Given the description of an element on the screen output the (x, y) to click on. 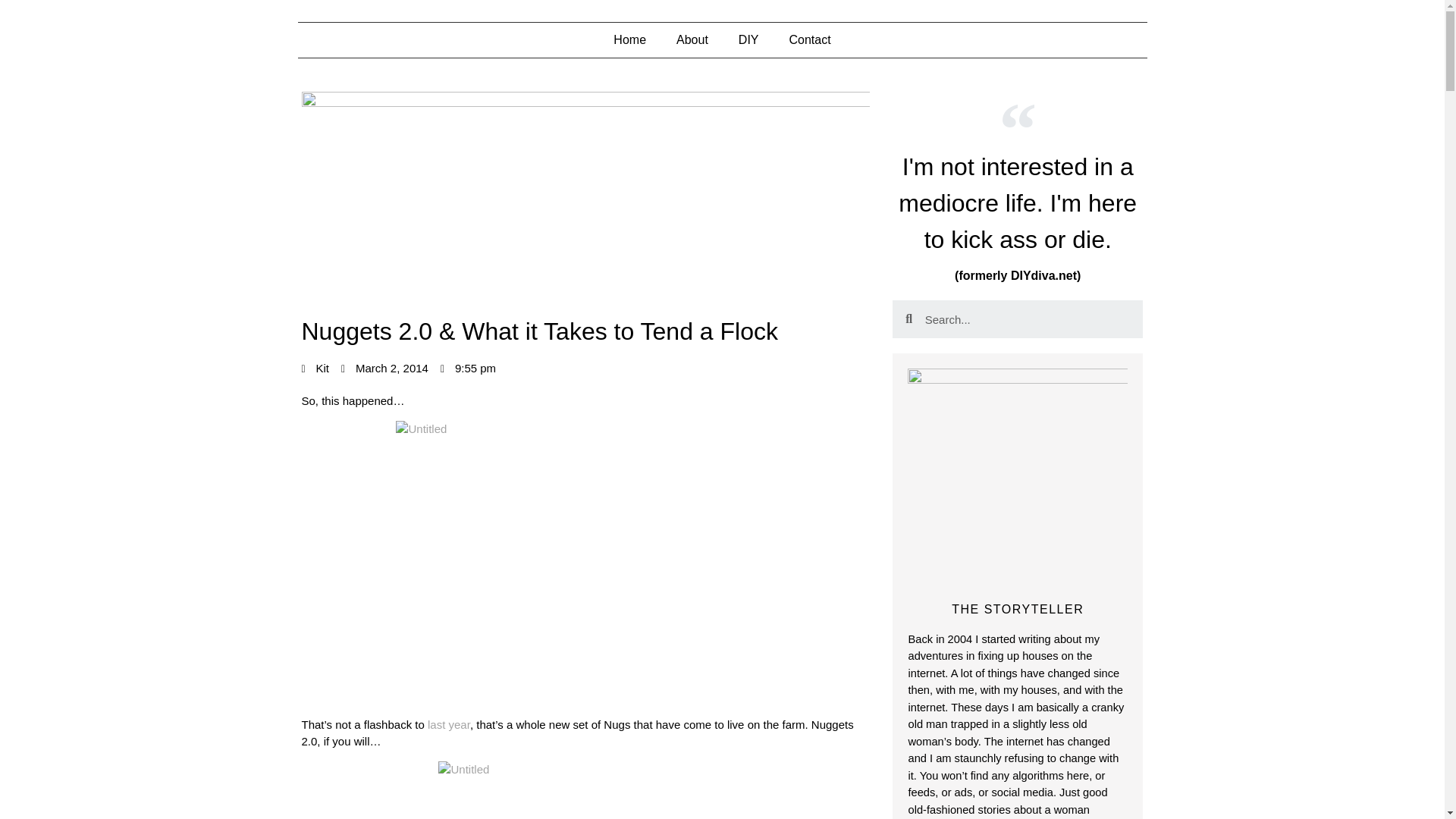
last year (449, 724)
DIY (748, 39)
Home (629, 39)
Search (1027, 319)
Kit (315, 367)
Contact (809, 39)
About (692, 39)
March 2, 2014 (384, 367)
Untitled by kitliz, on Flickr (585, 790)
